Given the description of an element on the screen output the (x, y) to click on. 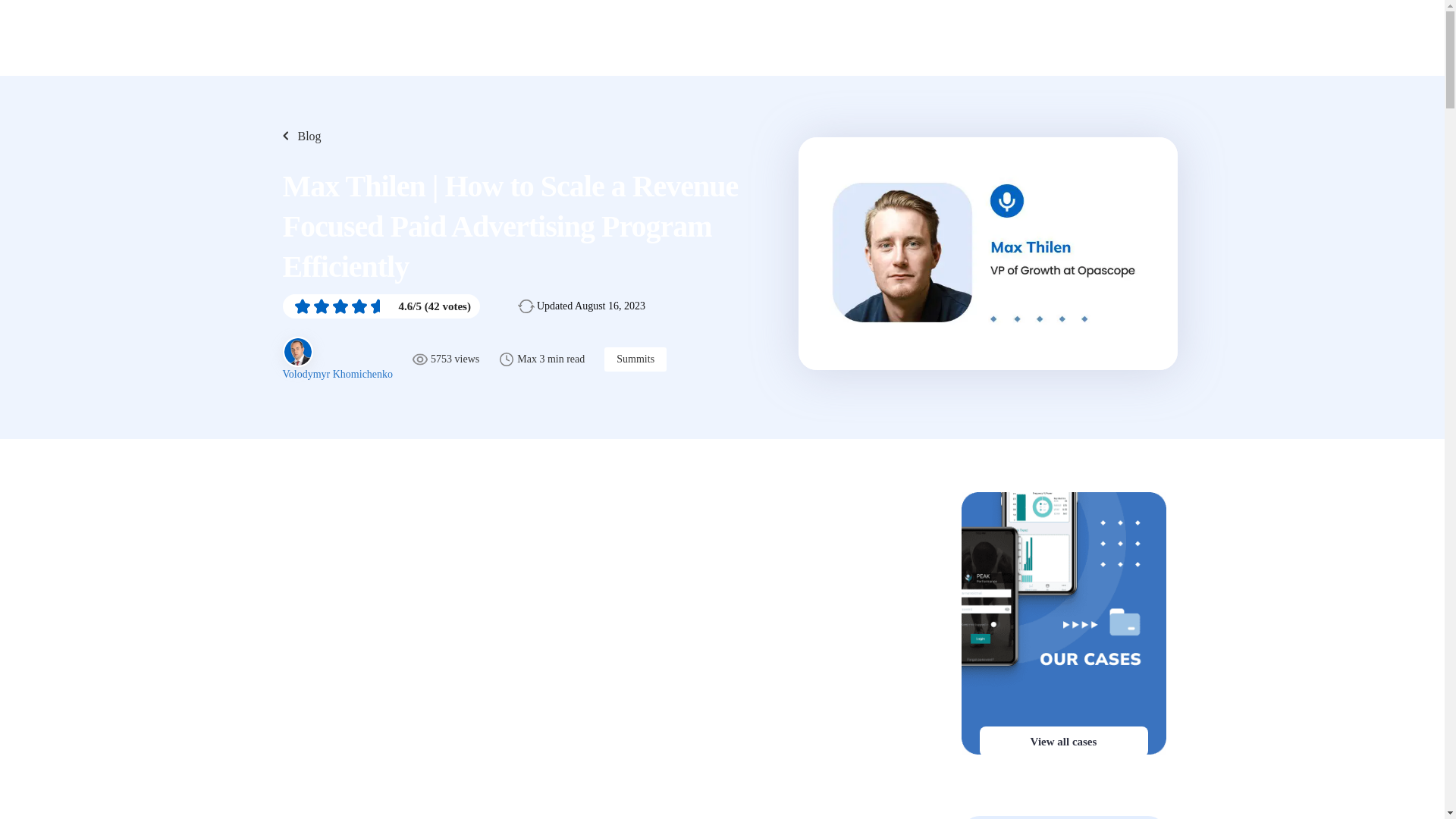
Posts by Volodymyr Khomichenko (337, 374)
